Given the description of an element on the screen output the (x, y) to click on. 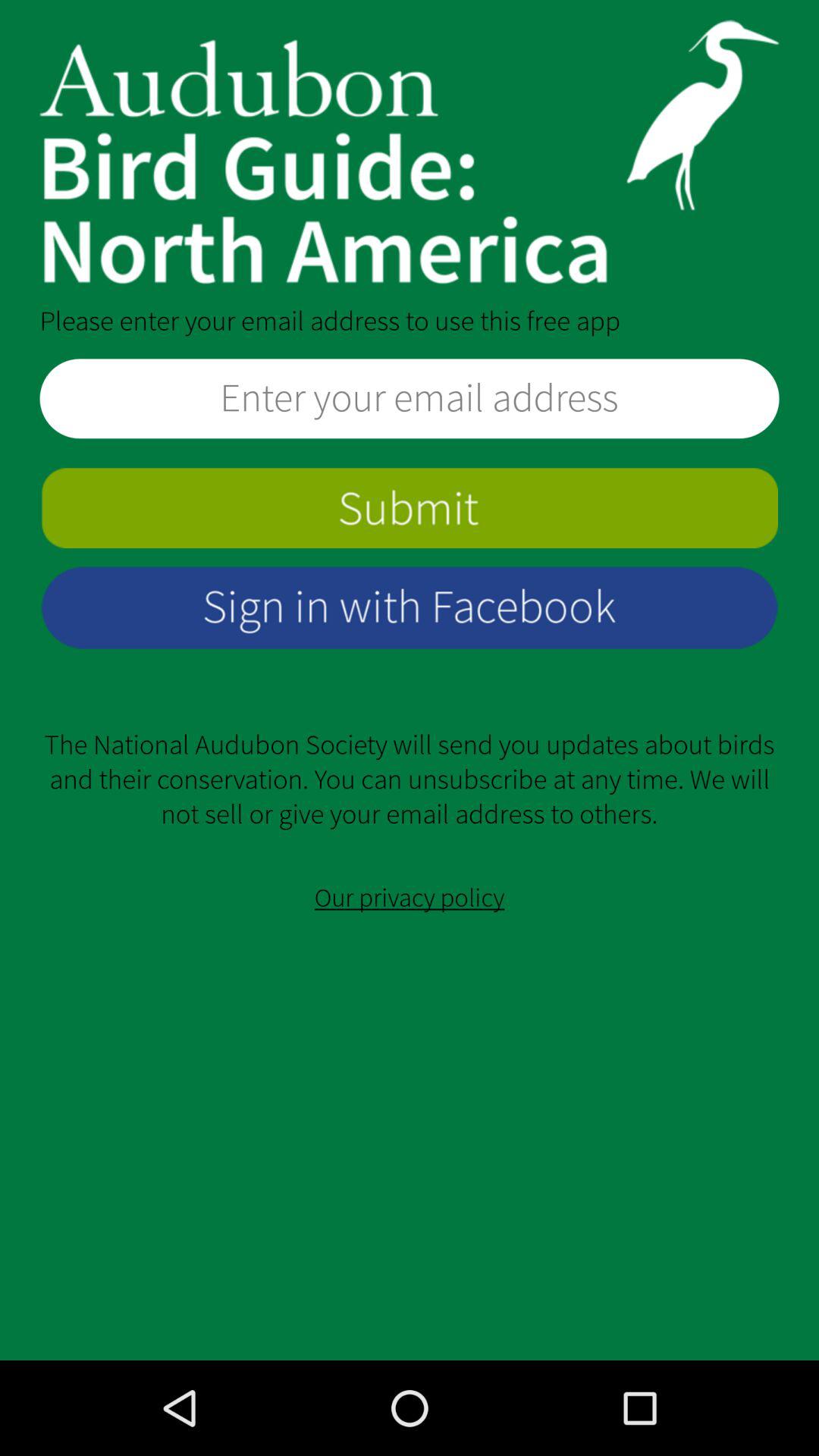
click our privacy policy (409, 897)
